Given the description of an element on the screen output the (x, y) to click on. 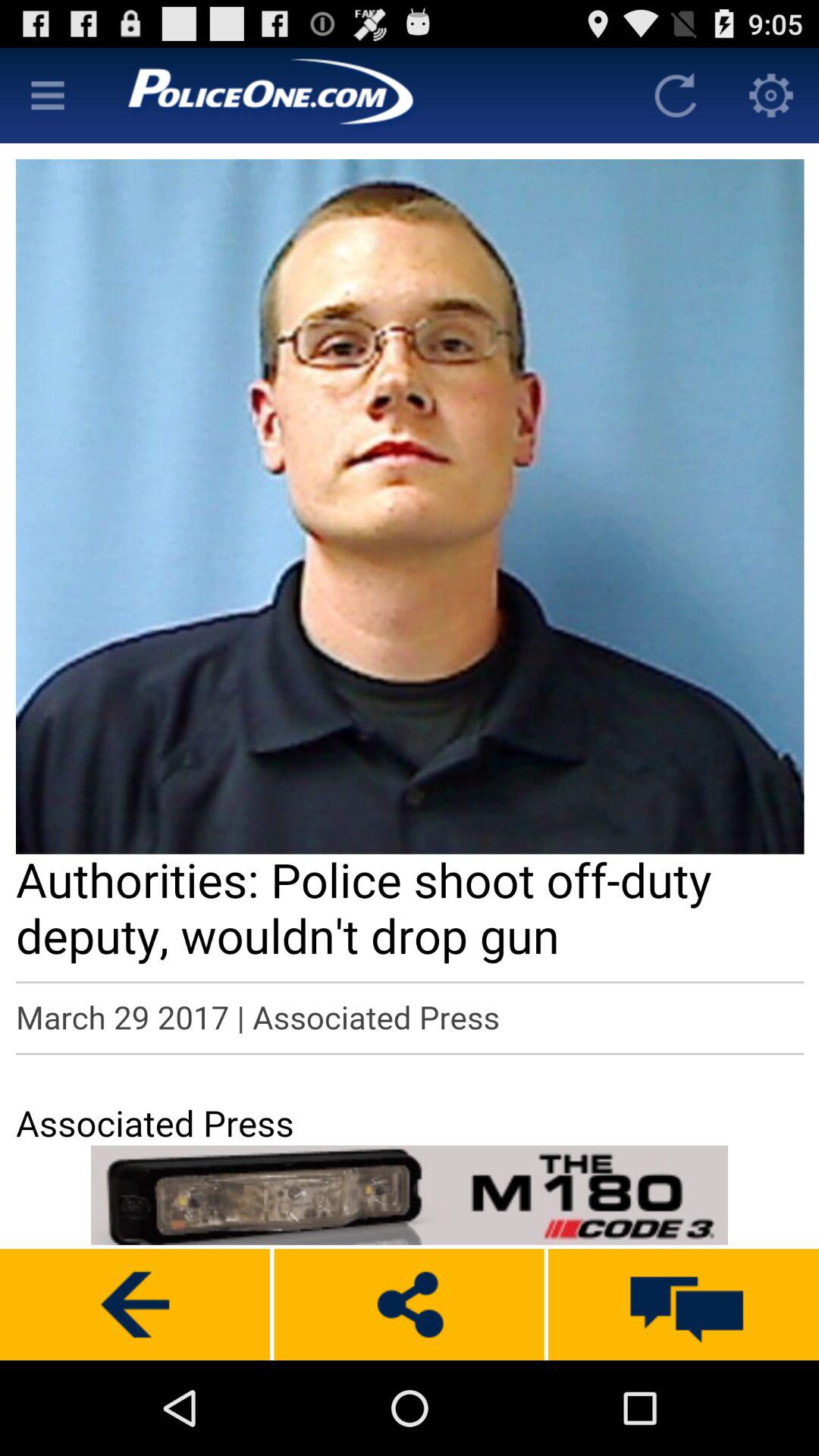
poliice one app menu (47, 95)
